Given the description of an element on the screen output the (x, y) to click on. 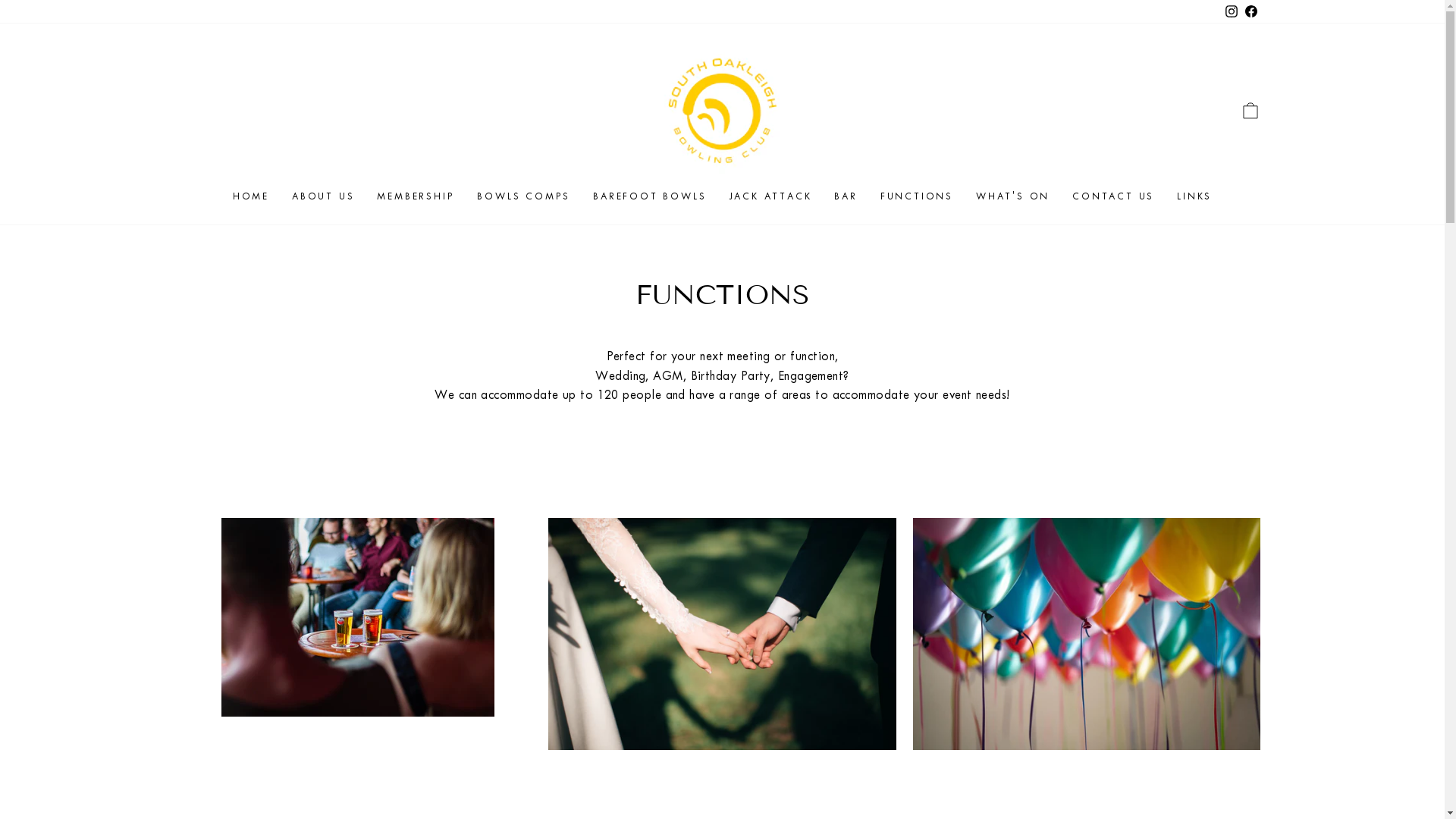
FUNCTIONS Element type: text (916, 195)
Skip to content Element type: text (0, 0)
JACK ATTACK Element type: text (769, 195)
HOME Element type: text (250, 195)
BAREFOOT BOWLS Element type: text (649, 195)
MEMBERSHIP Element type: text (415, 195)
ABOUT US Element type: text (322, 195)
LINKS Element type: text (1194, 195)
BAR Element type: text (845, 195)
Instagram Element type: text (1230, 11)
CART Element type: text (1249, 110)
CONTACT US Element type: text (1112, 195)
BOWLS COMPS Element type: text (523, 195)
Facebook Element type: text (1250, 11)
WHAT'S ON Element type: text (1012, 195)
